Given the description of an element on the screen output the (x, y) to click on. 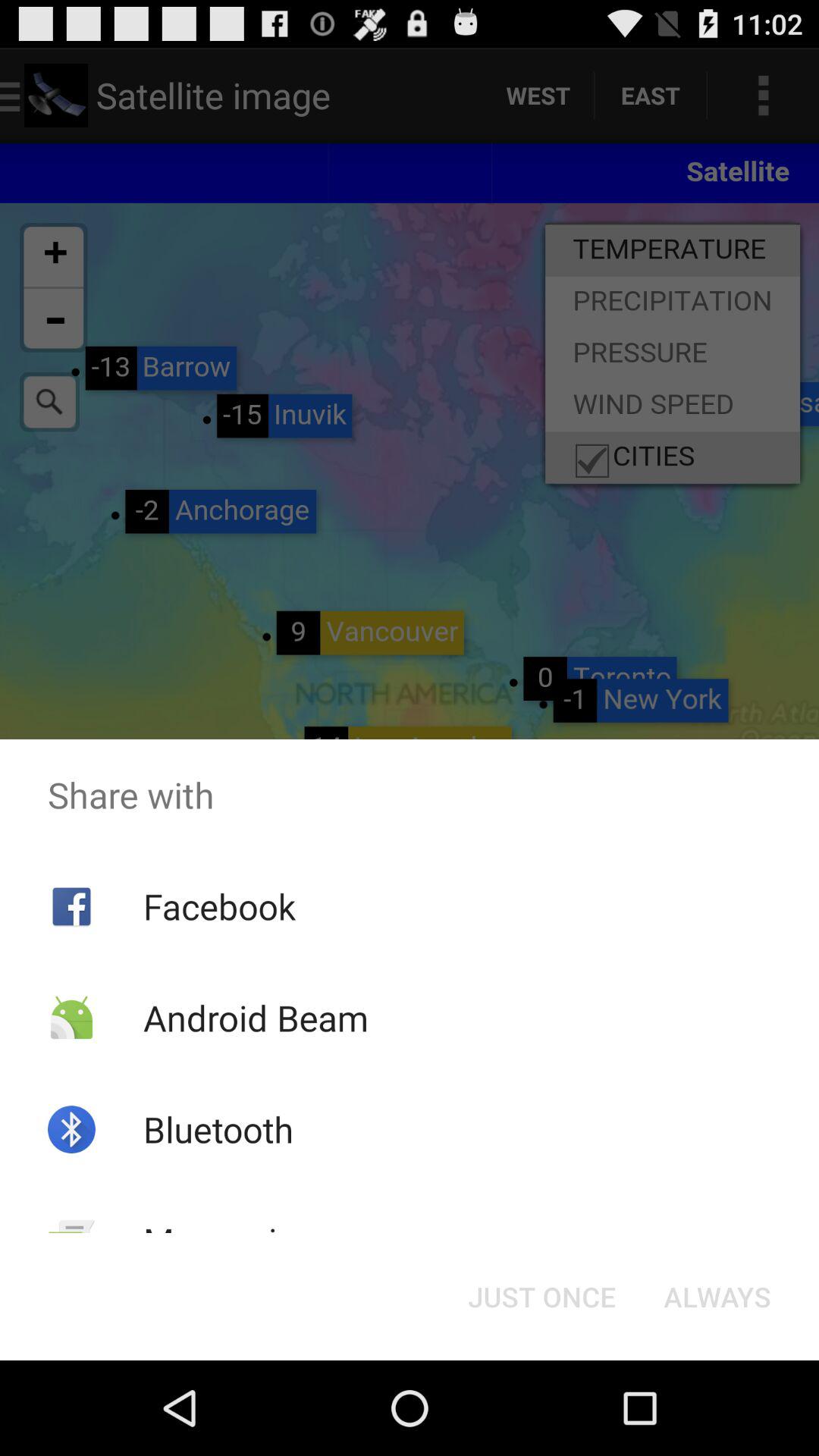
swipe to the always icon (717, 1296)
